Given the description of an element on the screen output the (x, y) to click on. 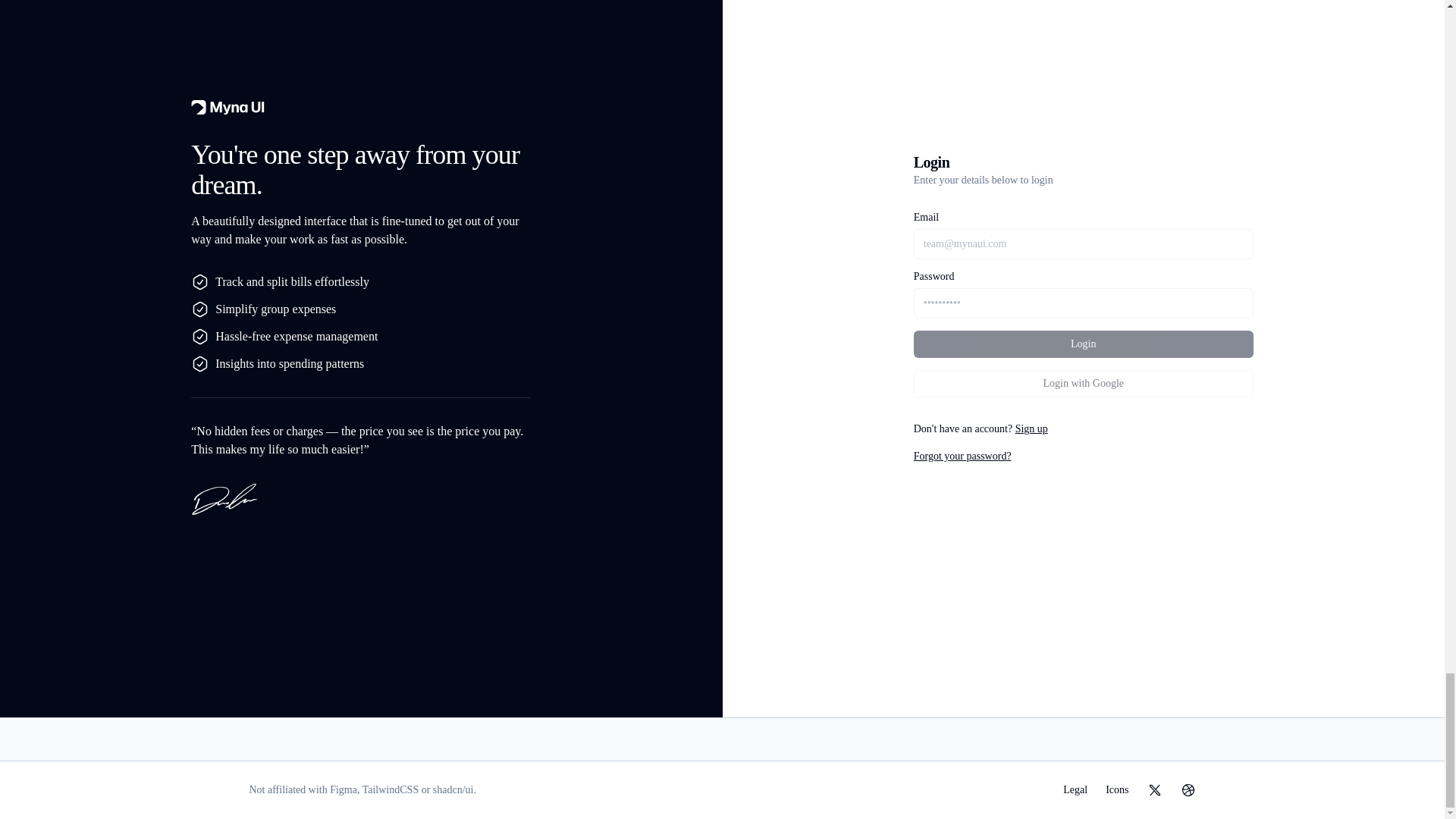
Dribbble (1187, 789)
Login with Google (1083, 383)
Login (1083, 343)
